Given the description of an element on the screen output the (x, y) to click on. 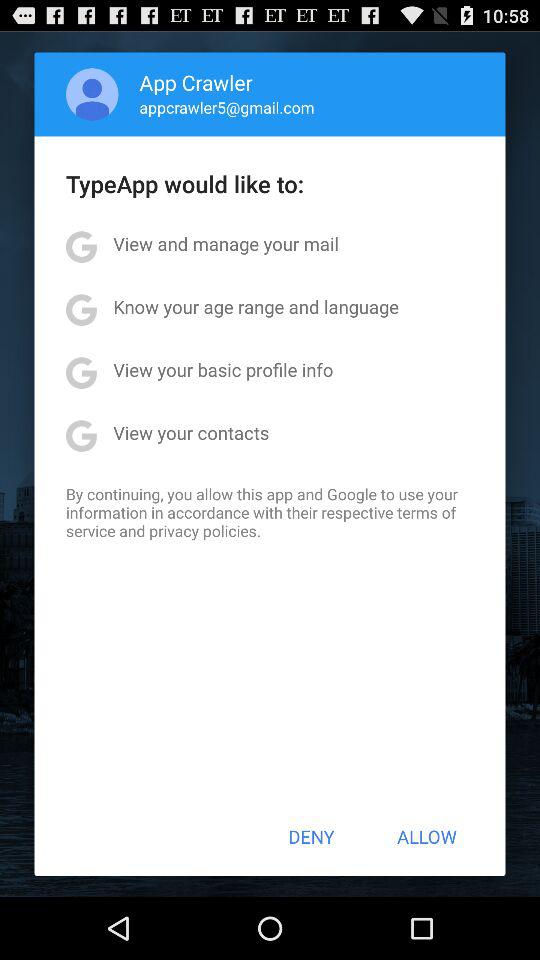
click item below the by continuing you (311, 836)
